Given the description of an element on the screen output the (x, y) to click on. 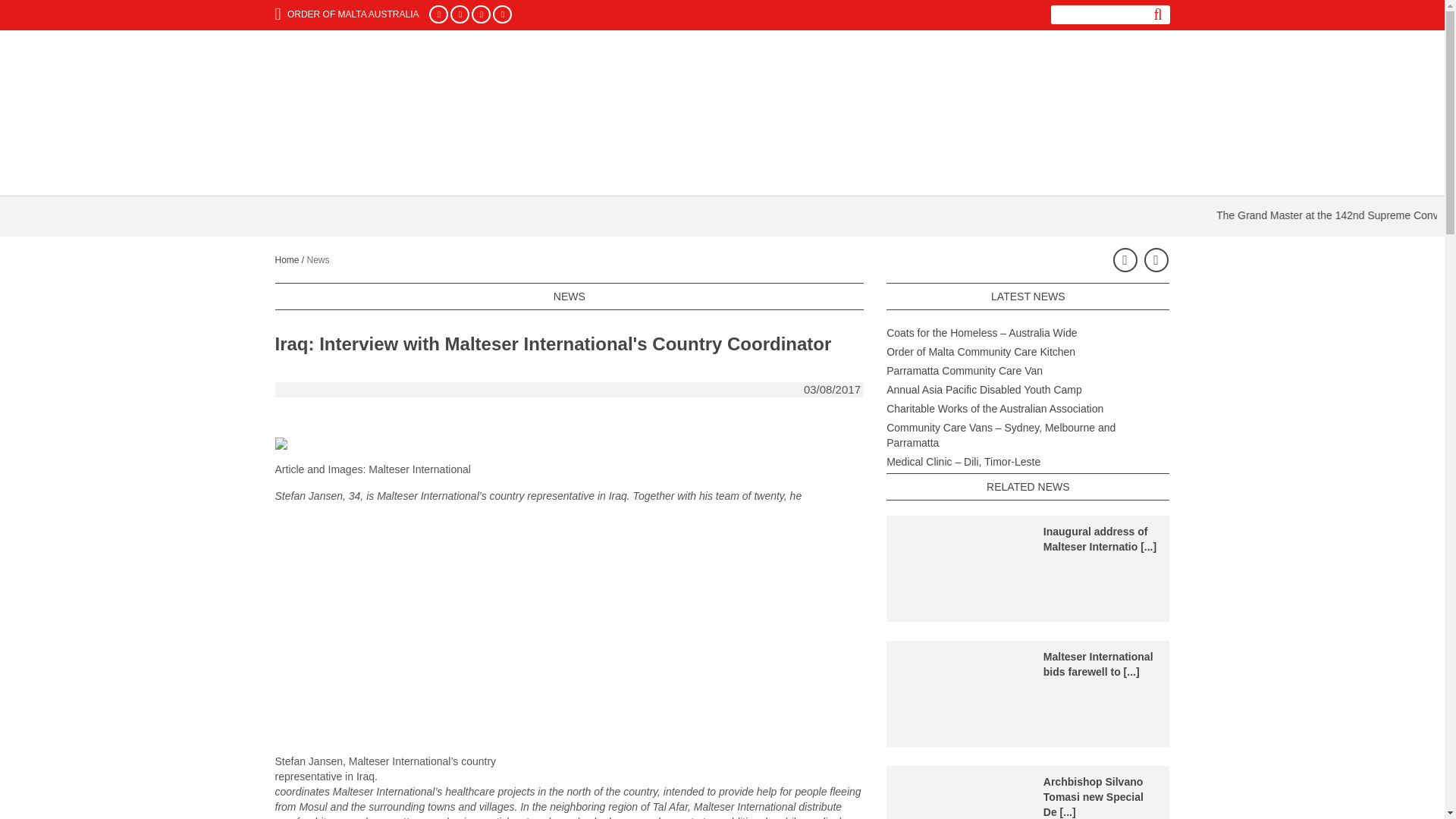
ORDER OF MALTA AUSTRALIA (347, 14)
